Given the description of an element on the screen output the (x, y) to click on. 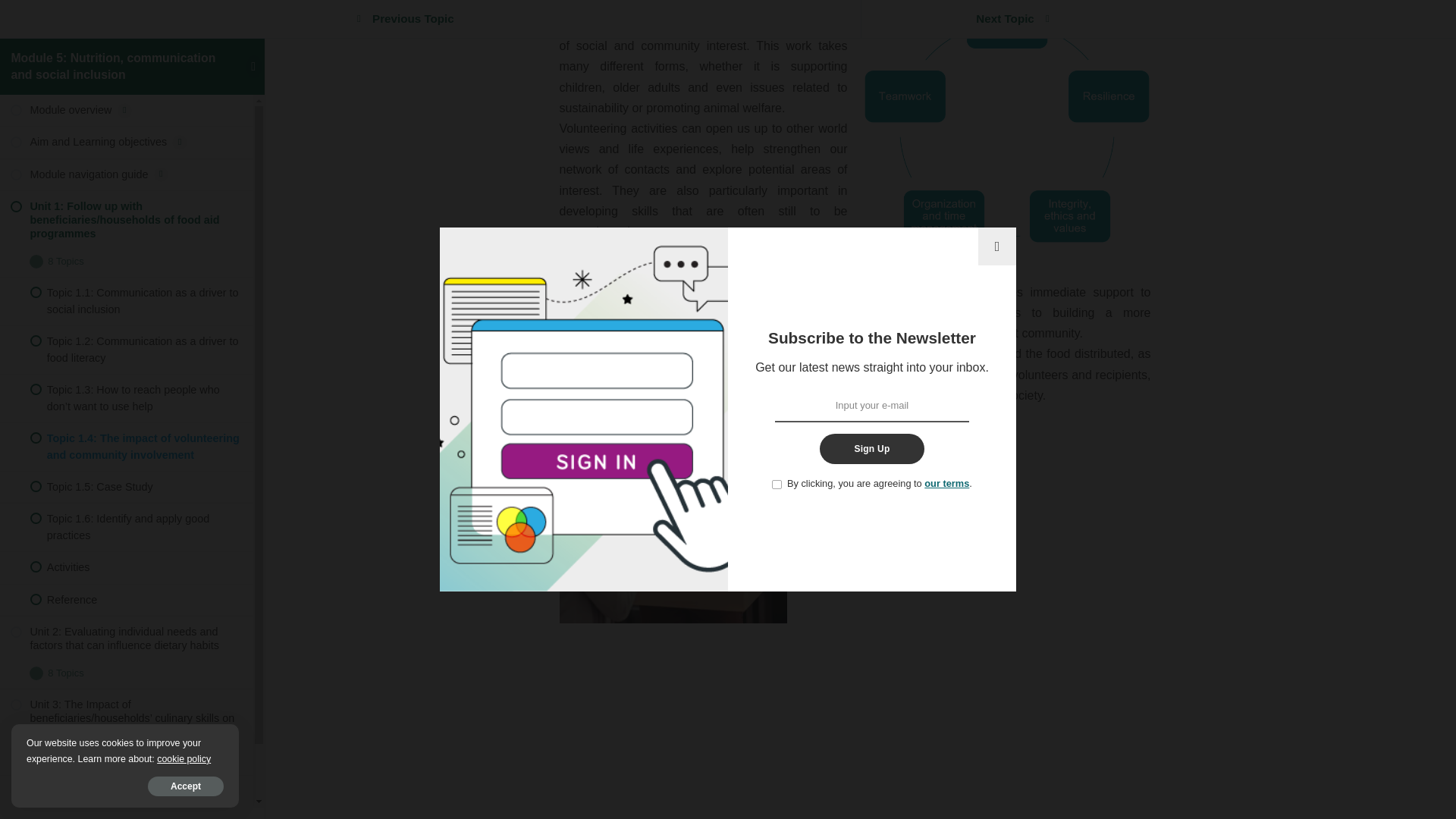
Topic 1.1: Communication as a driver to social inclusion (126, 98)
Reference (126, 397)
our terms (946, 280)
Sign Up (871, 245)
Activities (126, 588)
Activities (126, 364)
Topic 1.5: Case Study (126, 284)
Topic 1.6: Identify and apply good practices (126, 324)
References (126, 647)
Topic 1.2: Communication as a driver to food literacy (126, 146)
